Given the description of an element on the screen output the (x, y) to click on. 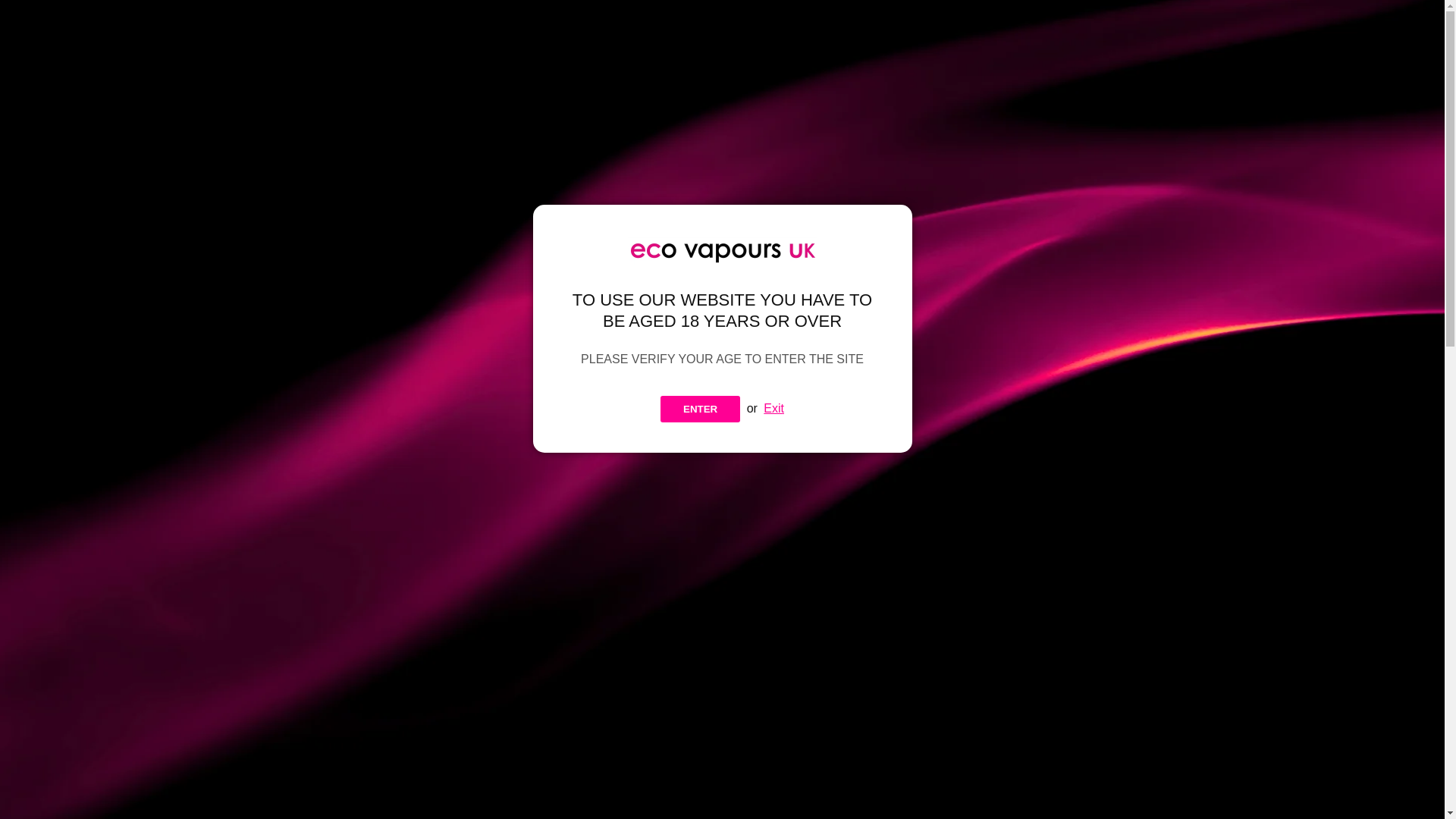
Skip to content (31, 17)
ENTER (700, 408)
1 (771, 624)
Exit (773, 408)
1 (768, 551)
